Given the description of an element on the screen output the (x, y) to click on. 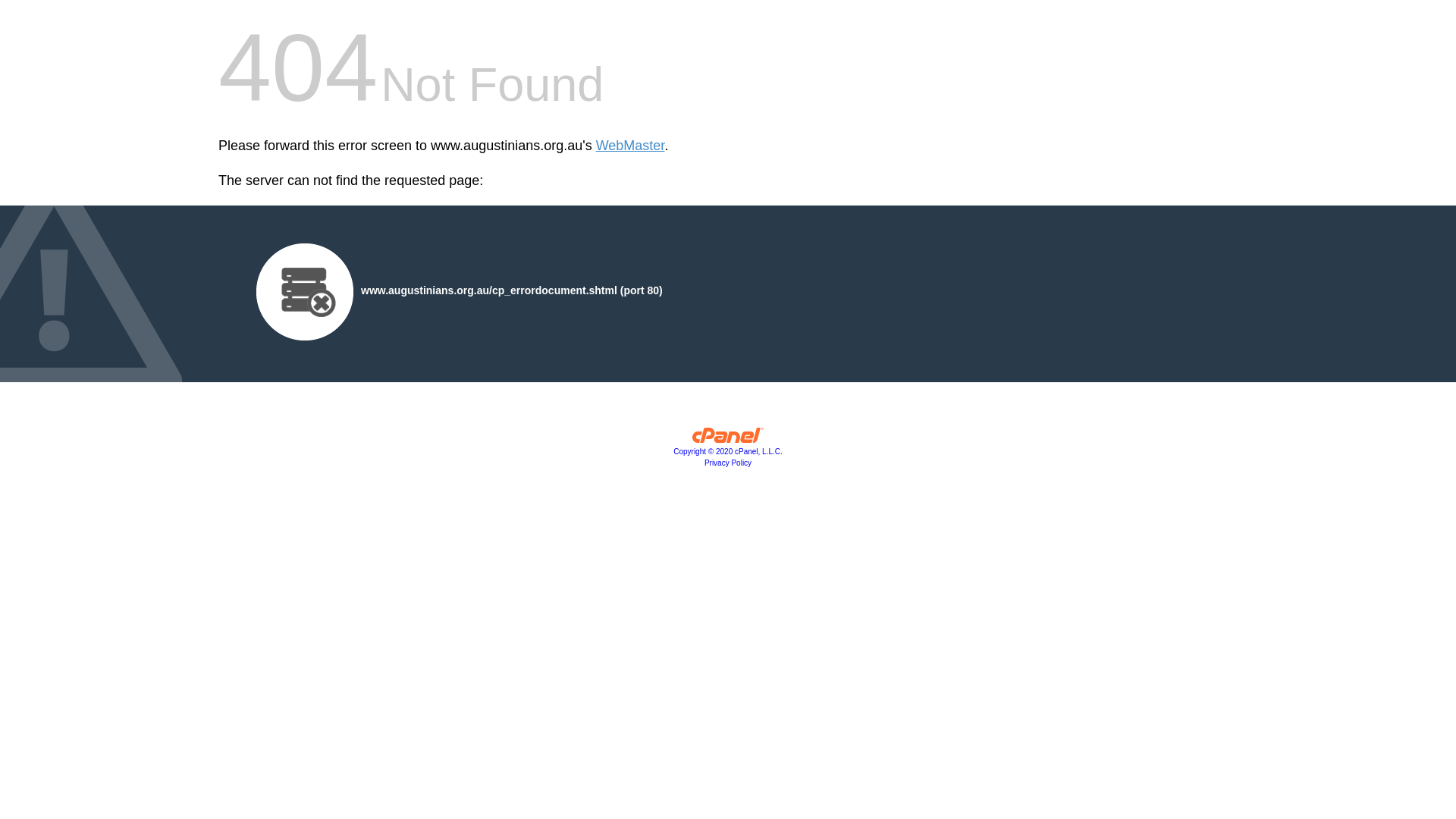
WebMaster Element type: text (630, 145)
cPanel, Inc. Element type: hover (728, 439)
Privacy Policy Element type: text (727, 462)
